Given the description of an element on the screen output the (x, y) to click on. 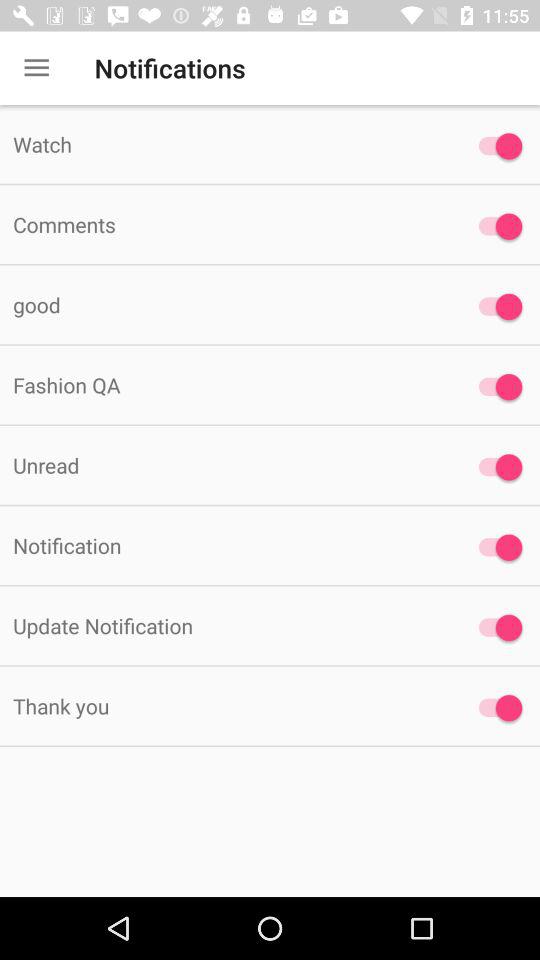
click on the last third button at the right side of the page (495, 548)
click on the fourth button from the right side top of the page (495, 386)
